Given the description of an element on the screen output the (x, y) to click on. 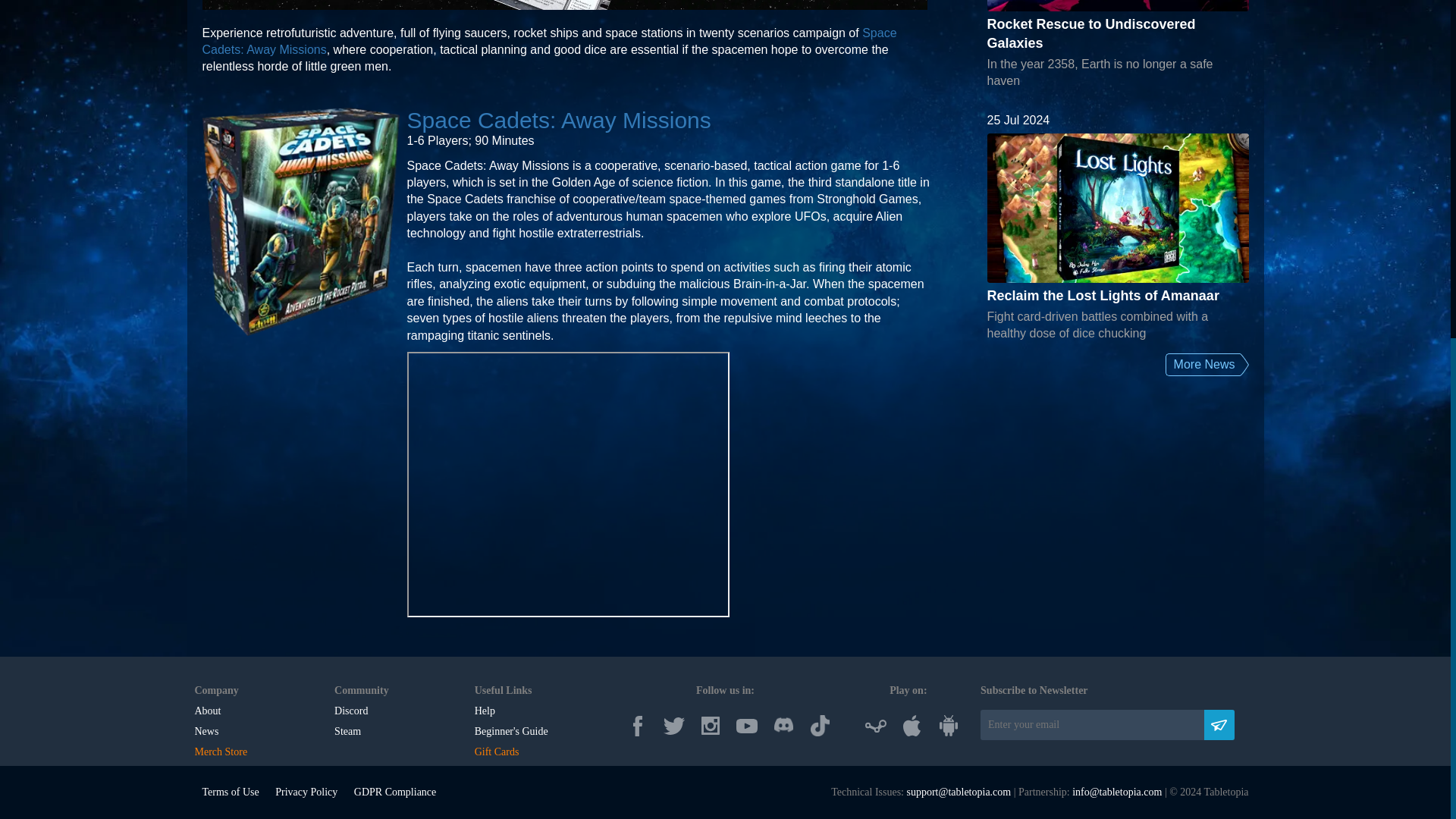
News (205, 731)
Privacy Policy (306, 791)
Help (484, 710)
More News (1203, 363)
Beginner's Guide (511, 731)
Steam (347, 731)
Terms of Use (230, 791)
Discord (351, 710)
Gift Cards (496, 751)
Space Cadets: Away Missions (549, 41)
